Given the description of an element on the screen output the (x, y) to click on. 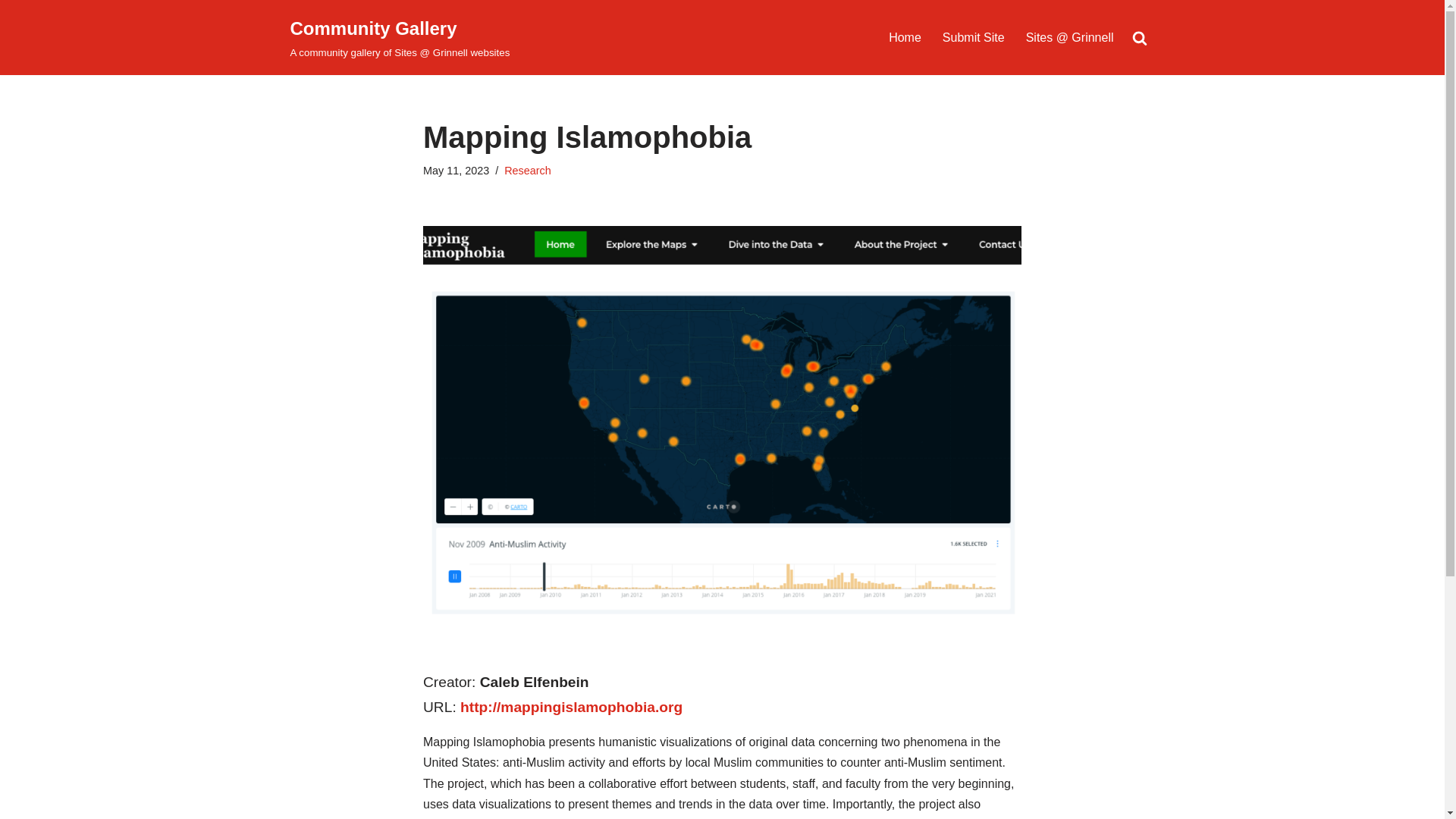
Research (527, 170)
Skip to content (11, 31)
Submit Site (973, 37)
Home (904, 37)
